Given the description of an element on the screen output the (x, y) to click on. 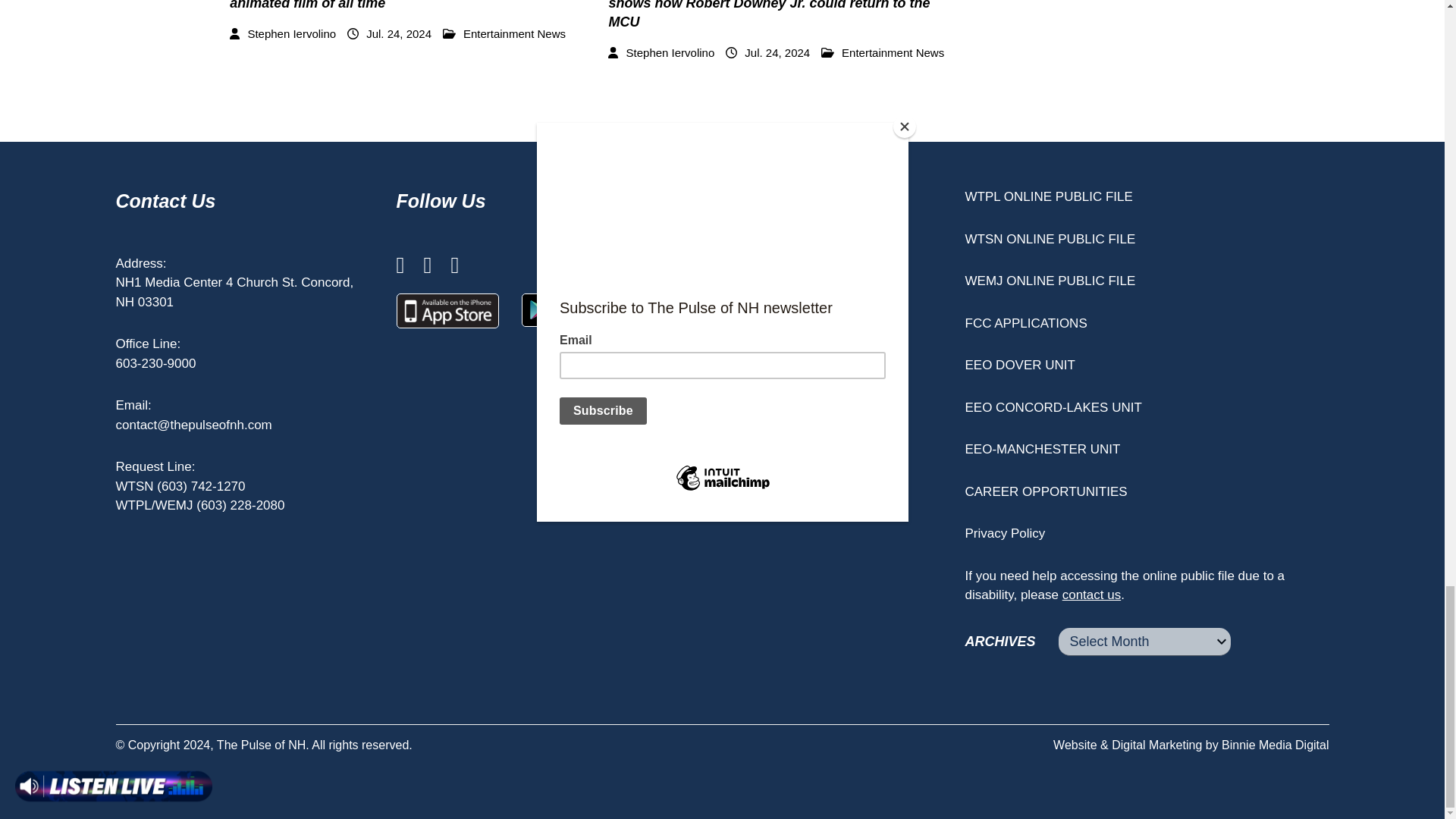
App Store (447, 310)
